Given the description of an element on the screen output the (x, y) to click on. 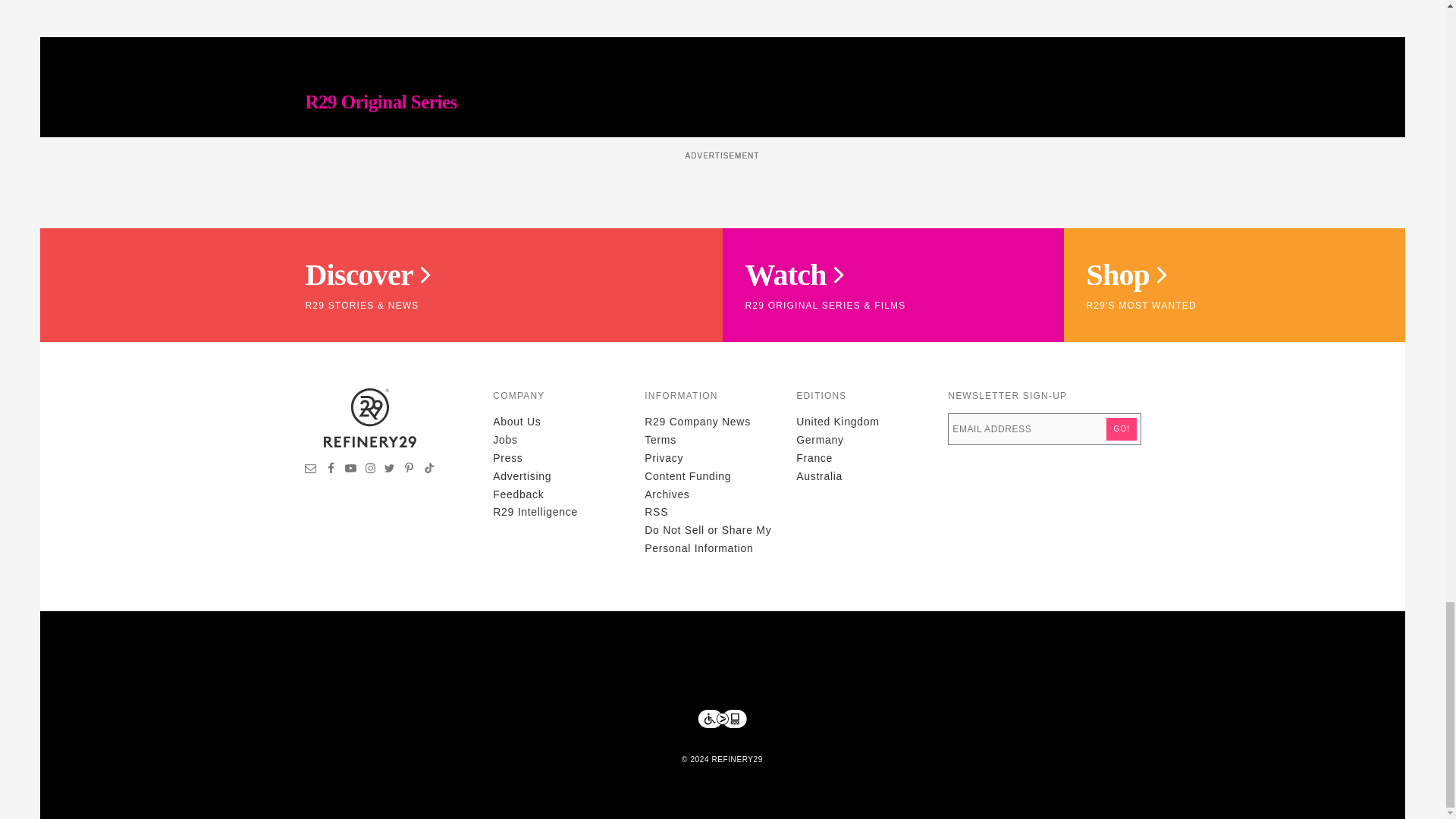
Visit Refinery29 on TikTok (428, 469)
Sign up for newsletters (310, 469)
Visit Refinery29 on YouTube (350, 469)
